Given the description of an element on the screen output the (x, y) to click on. 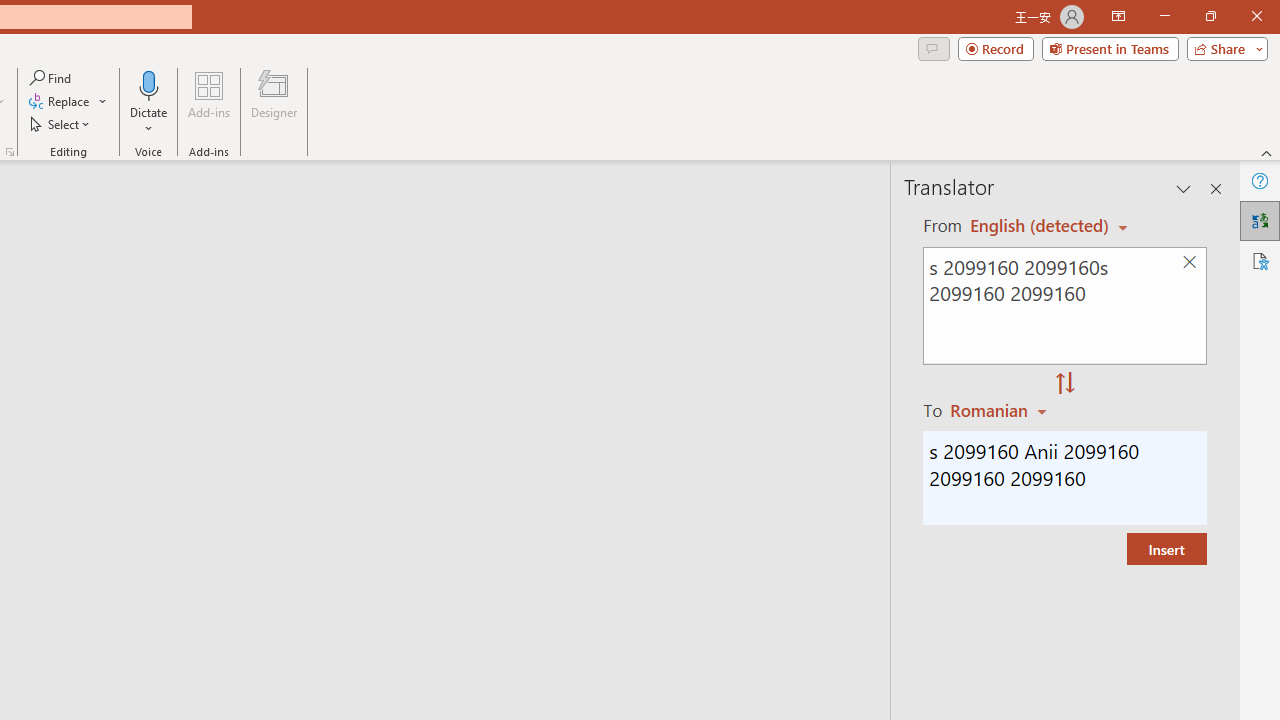
Romanian (1001, 409)
